Given the description of an element on the screen output the (x, y) to click on. 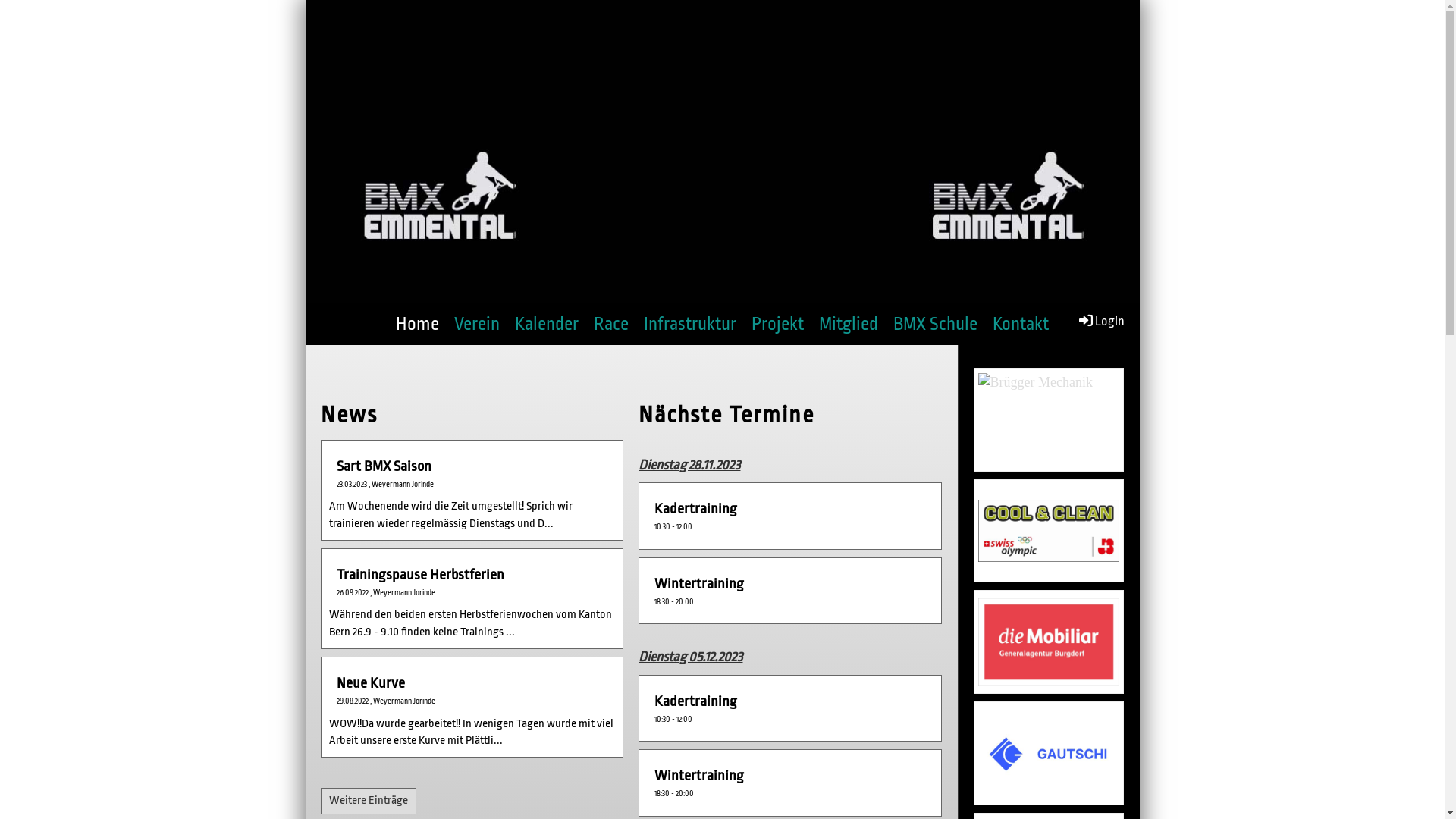
Mitglied Element type: text (848, 324)
BMX Schule Element type: text (935, 324)
Wintertraining
18:30 - 20:00 Element type: text (789, 782)
Kalender Element type: text (546, 324)
Race Element type: text (611, 324)
Home Element type: text (417, 324)
Verein Element type: text (476, 324)
Kadertraining
10:30 - 12:00 Element type: text (789, 515)
Kadertraining
10:30 - 12:00 Element type: text (789, 707)
Projekt Element type: text (777, 324)
Wintertraining
18:30 - 20:00 Element type: text (789, 590)
Infrastruktur Element type: text (689, 324)
Kontakt Element type: text (1020, 324)
Login Element type: text (1100, 320)
